Given the description of an element on the screen output the (x, y) to click on. 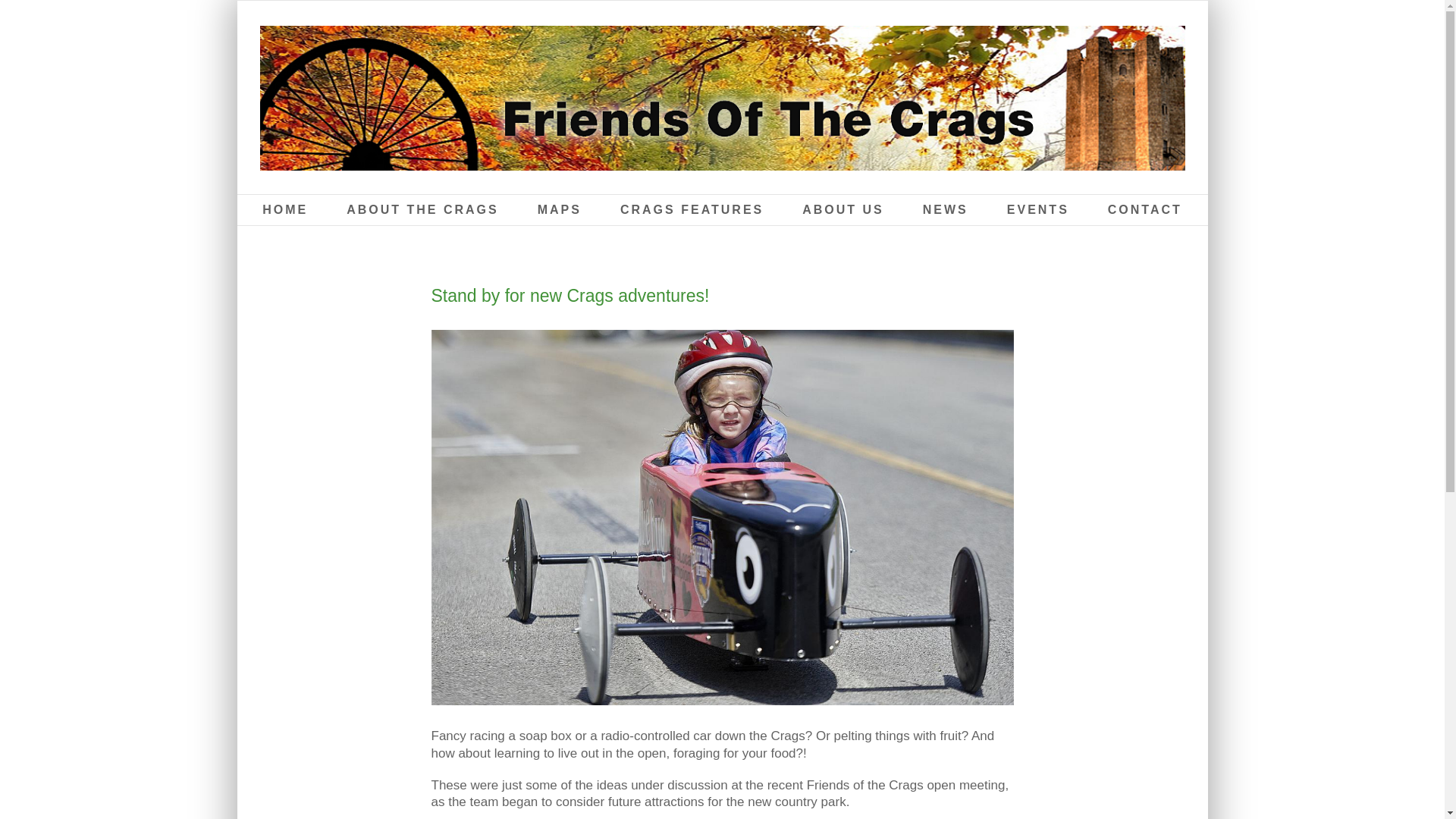
EVENTS (1037, 209)
ABOUT US (842, 209)
MAPS (558, 209)
CONTACT (1145, 209)
ABOUT THE CRAGS (422, 209)
HOME (284, 209)
NEWS (945, 209)
CRAGS FEATURES (691, 209)
